Given the description of an element on the screen output the (x, y) to click on. 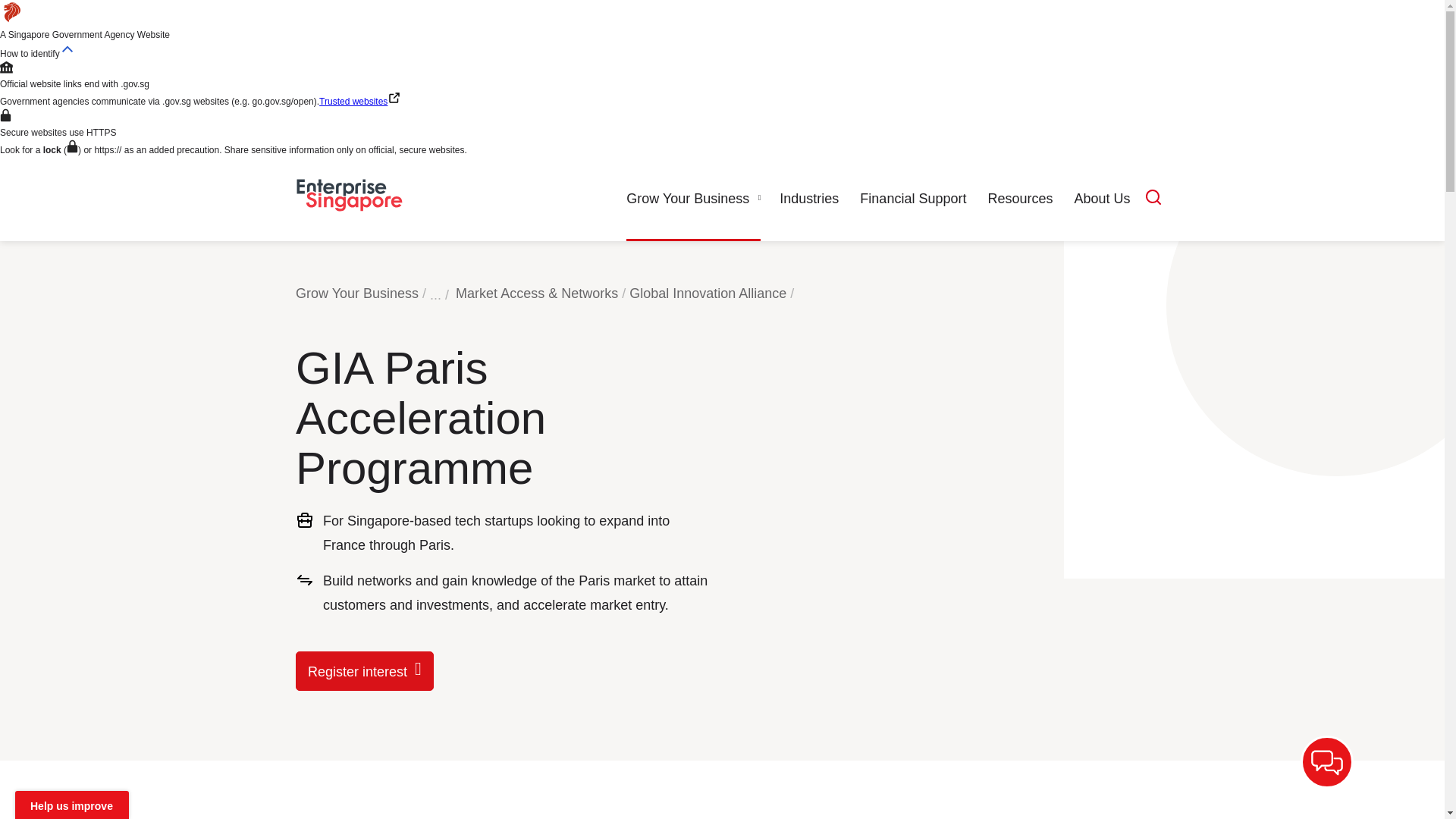
Logo (349, 199)
Grow Your Business (693, 198)
